Given the description of an element on the screen output the (x, y) to click on. 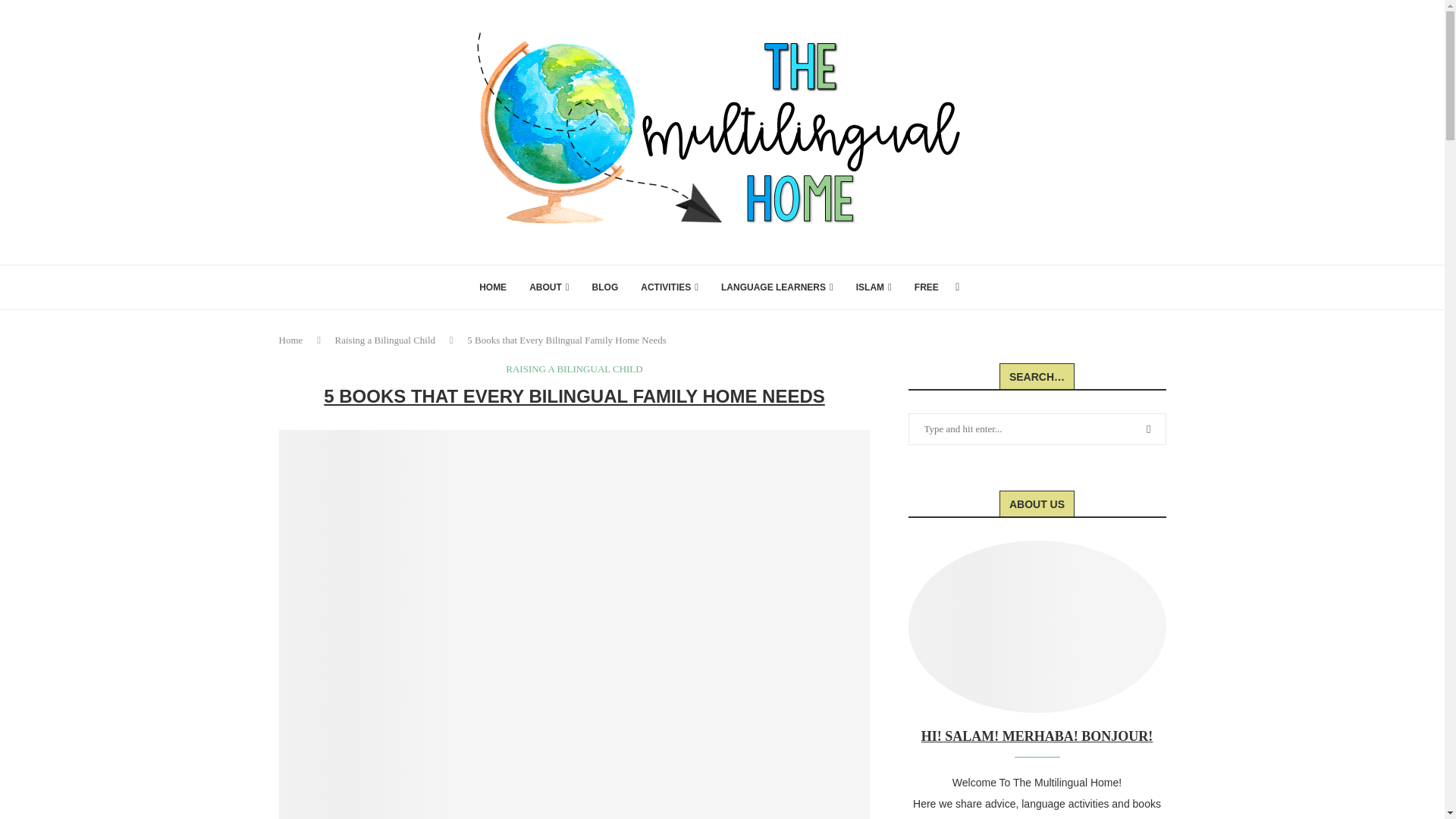
ABOUT (549, 287)
ACTIVITIES (669, 287)
BLOG (605, 287)
HOME (492, 287)
